Given the description of an element on the screen output the (x, y) to click on. 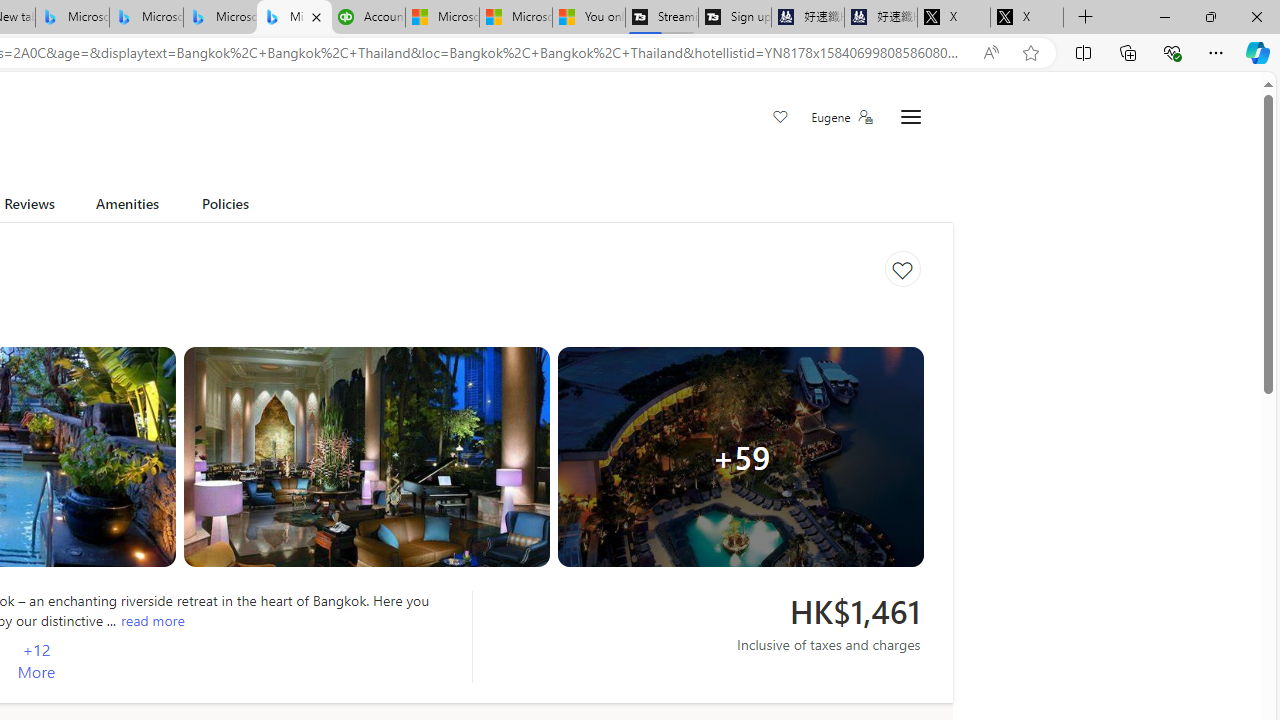
Save (780, 118)
